Given the description of an element on the screen output the (x, y) to click on. 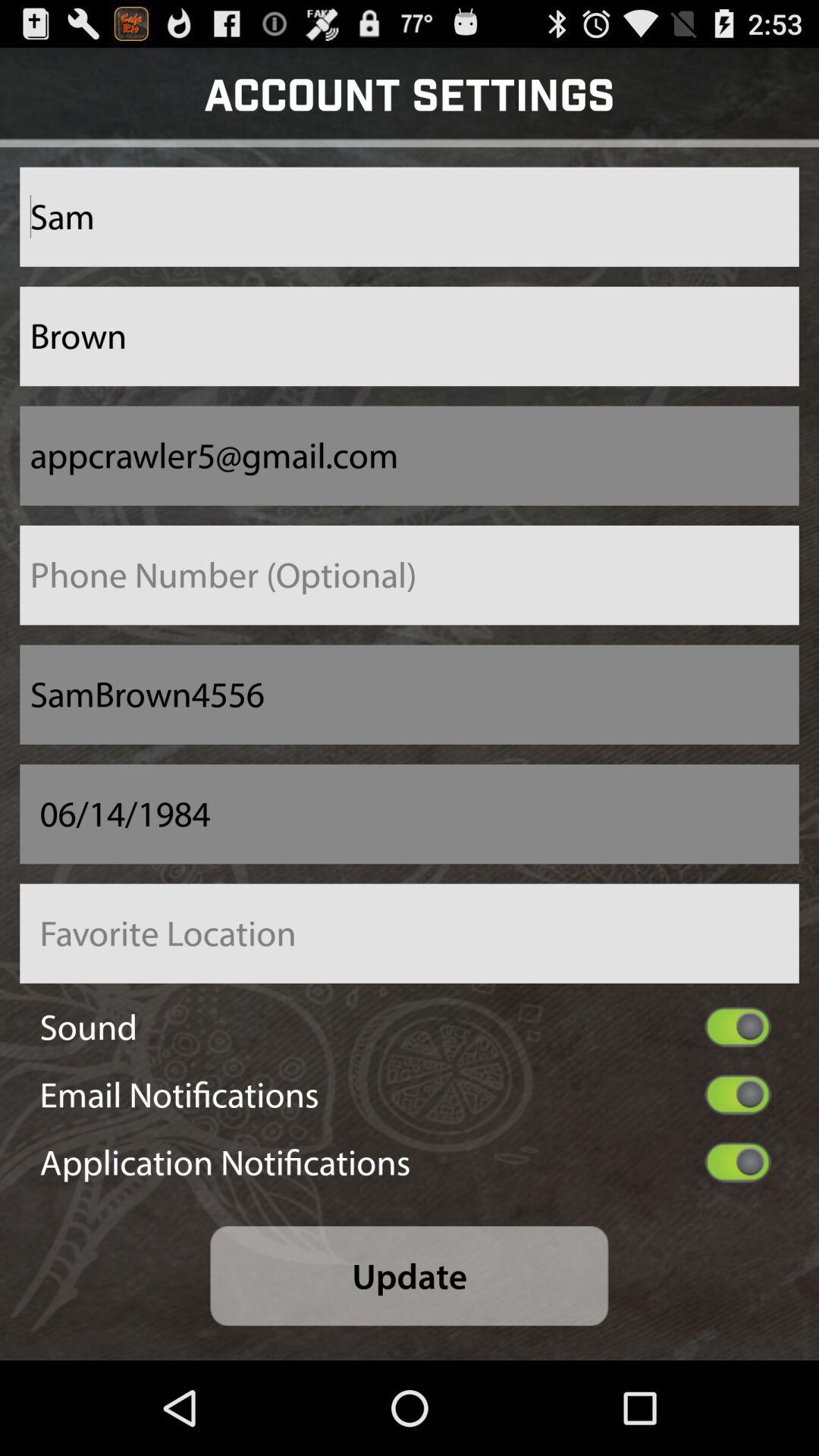
enter favorite location (409, 933)
